Given the description of an element on the screen output the (x, y) to click on. 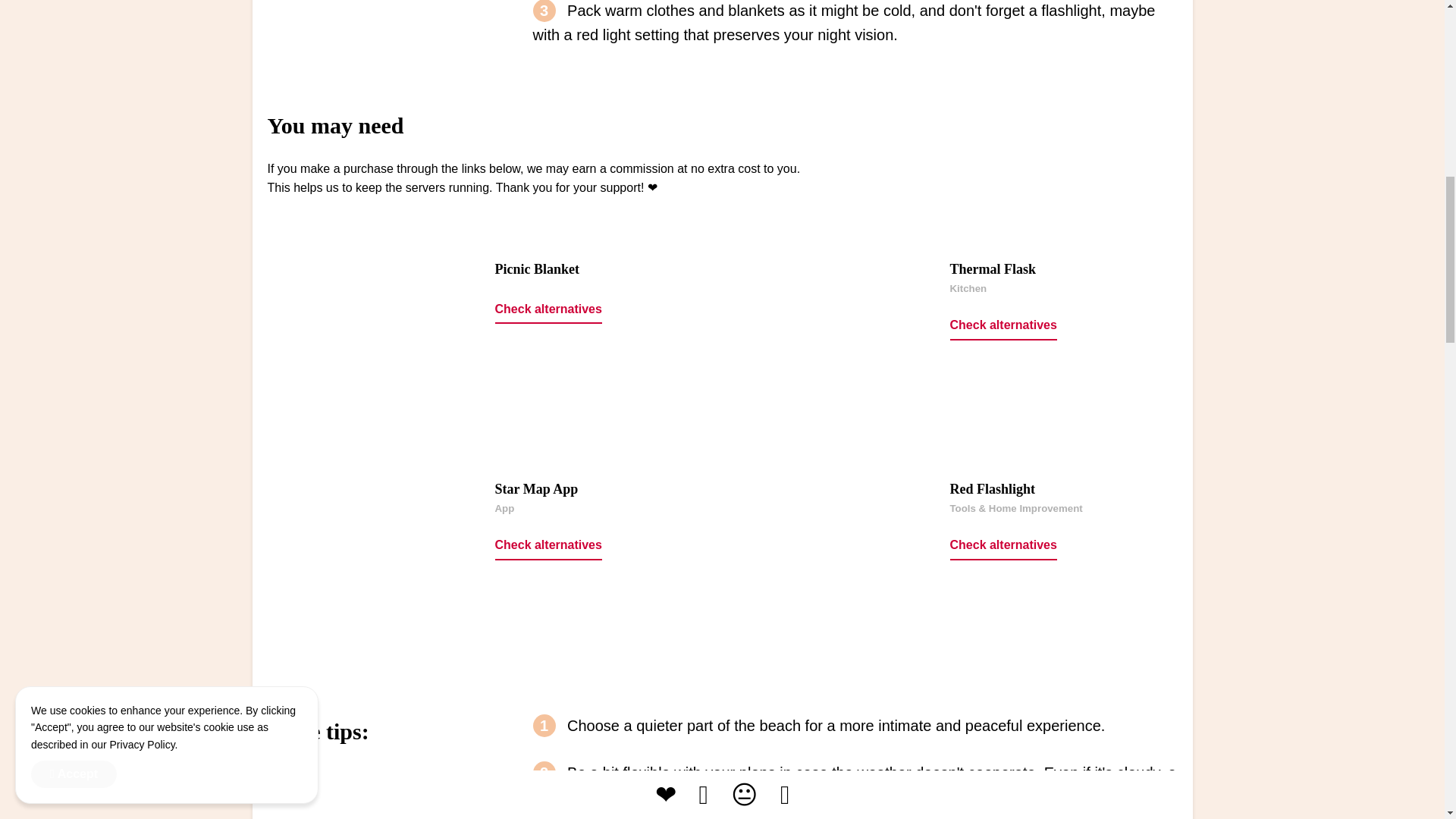
Picnic Blanket (537, 268)
Red Flashlight (992, 488)
Check alternatives (548, 545)
Thermal Flask (992, 268)
Check alternatives (548, 309)
Check alternatives (1003, 326)
Check alternatives (1003, 545)
Star Map App (536, 488)
